Given the description of an element on the screen output the (x, y) to click on. 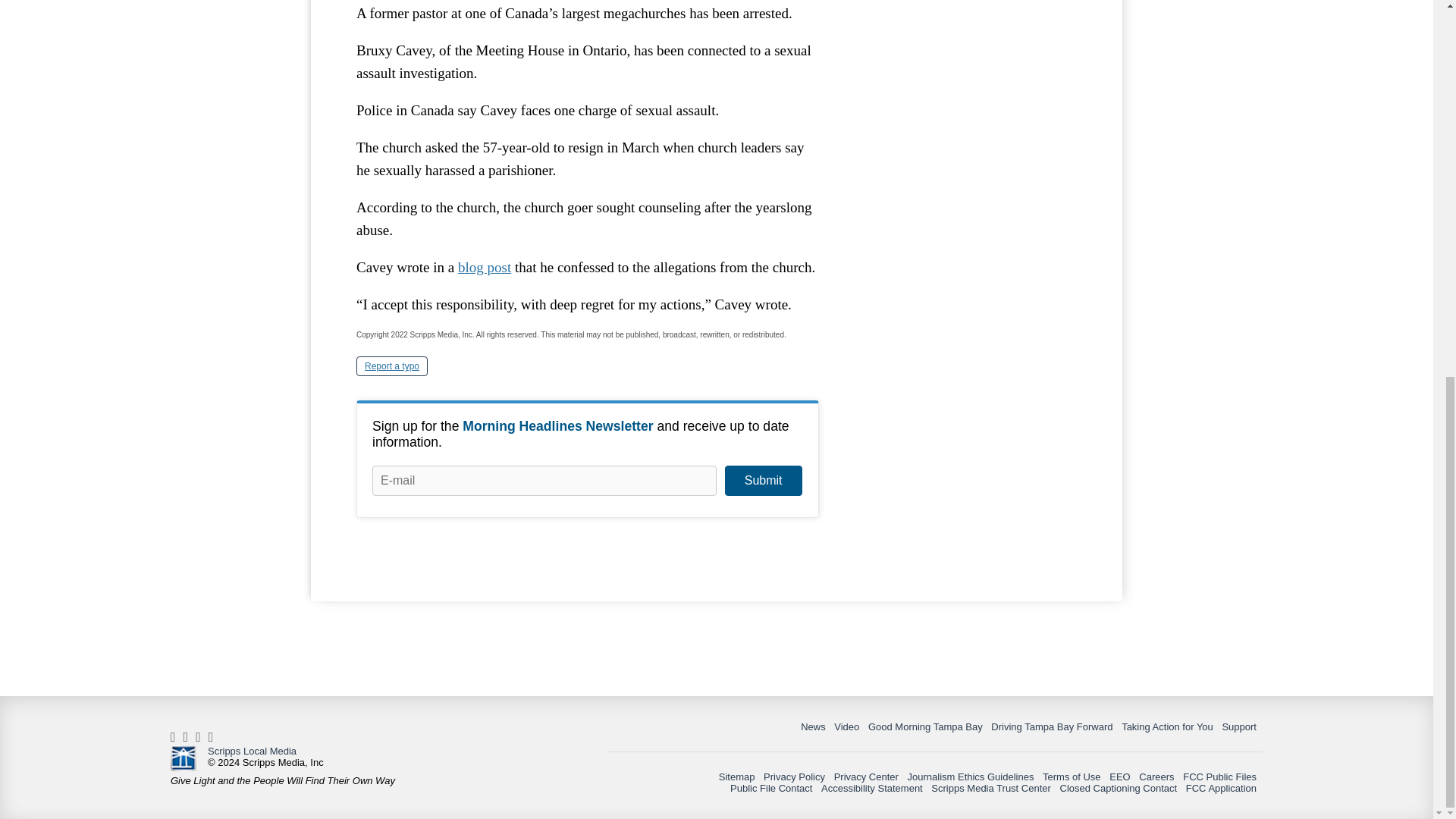
Submit (763, 481)
